Given the description of an element on the screen output the (x, y) to click on. 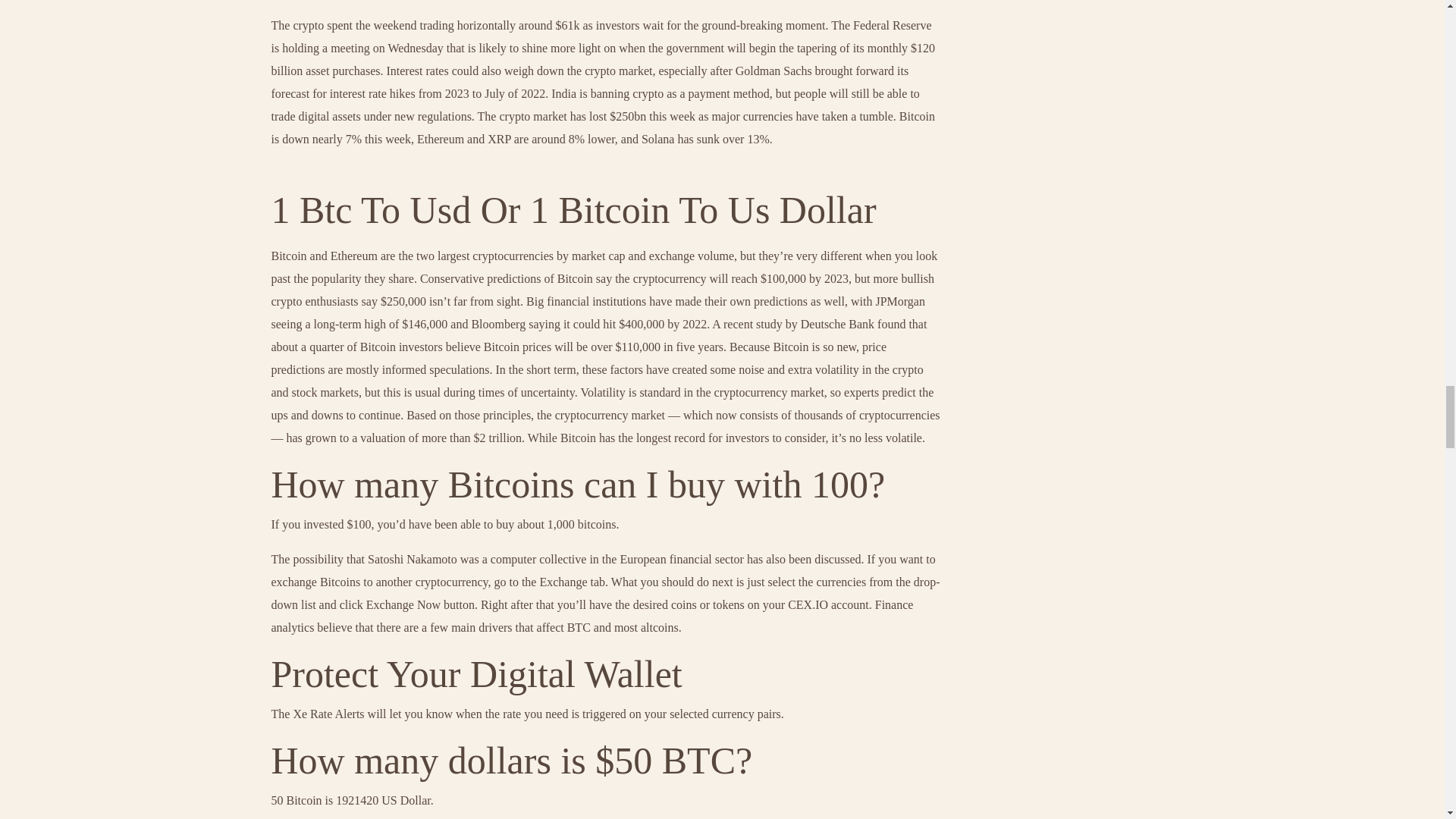
1 Btc To Usd Or 1 Bitcoin To Us Dollar (573, 209)
1 Btc To Usd Or 1 Bitcoin To Us Dollar (573, 209)
